Given the description of an element on the screen output the (x, y) to click on. 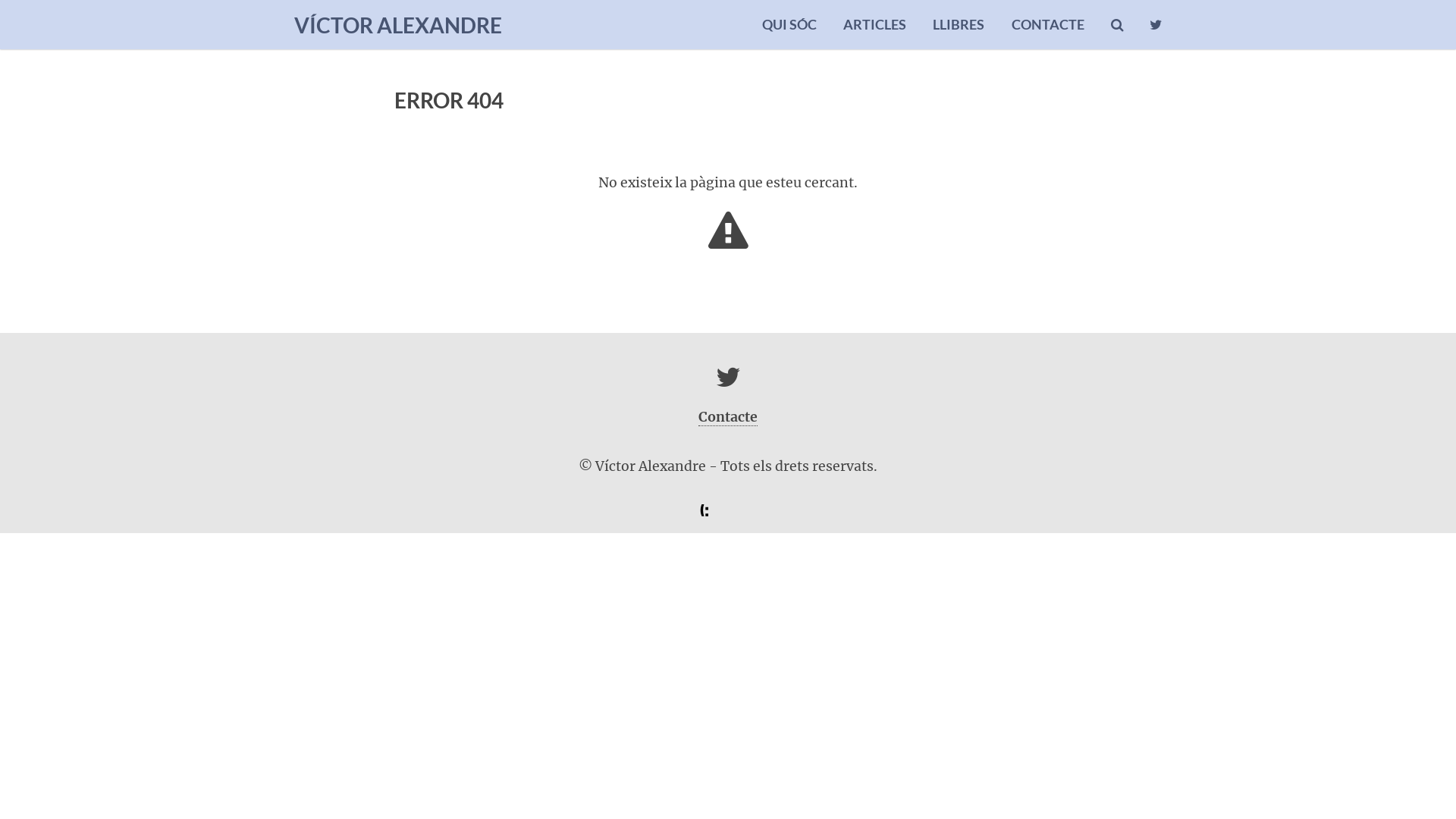
ARTICLES Element type: text (874, 24)
Contacte Element type: text (727, 417)
Twitter Element type: hover (727, 381)
CONTACTE Element type: text (1047, 24)
LLIBRES Element type: text (958, 24)
